Given the description of an element on the screen output the (x, y) to click on. 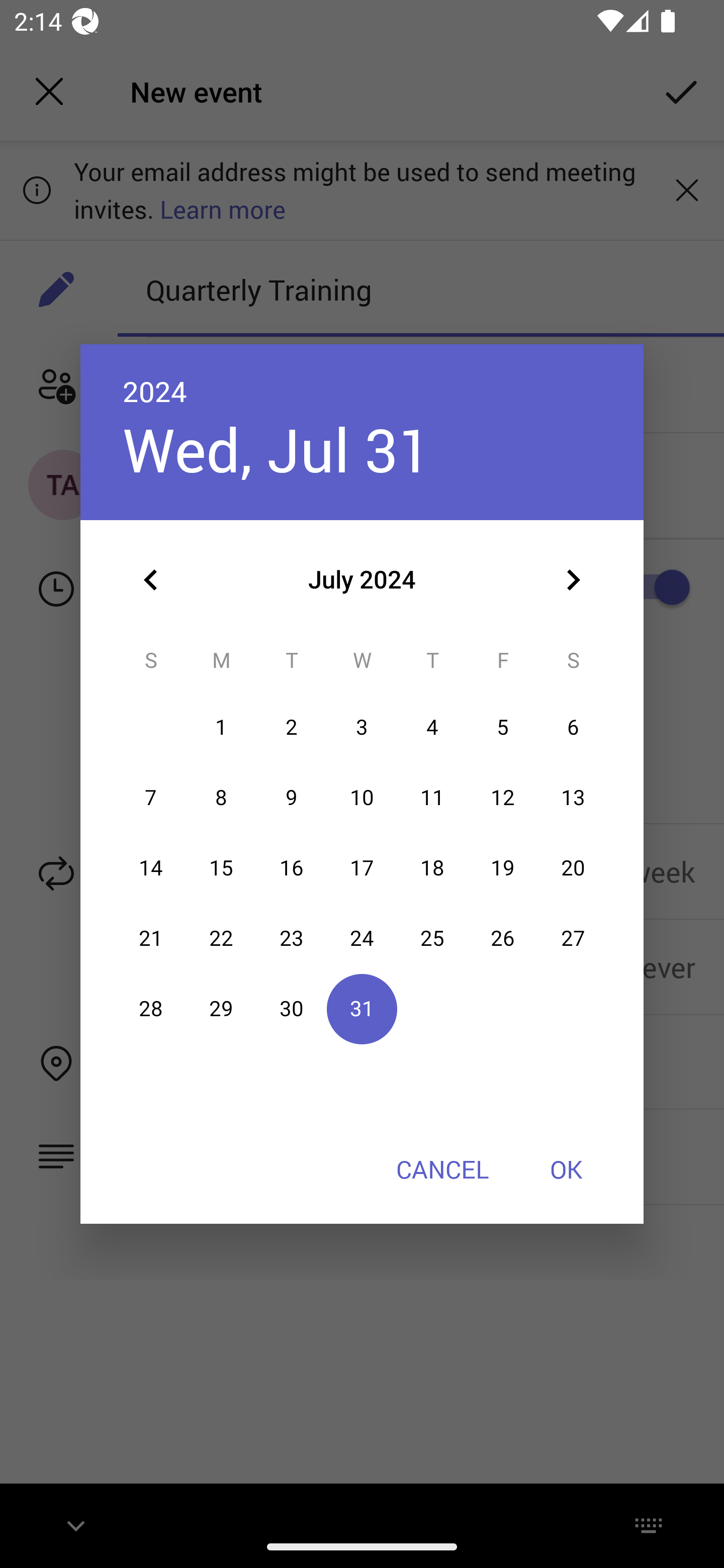
2024 (154, 391)
Wed, Jul 31 (277, 449)
Previous month (150, 579)
Next month (572, 579)
1 01 July 2024 (221, 728)
2 02 July 2024 (291, 728)
3 03 July 2024 (361, 728)
4 04 July 2024 (432, 728)
5 05 July 2024 (502, 728)
6 06 July 2024 (572, 728)
7 07 July 2024 (150, 797)
8 08 July 2024 (221, 797)
9 09 July 2024 (291, 797)
10 10 July 2024 (361, 797)
11 11 July 2024 (432, 797)
12 12 July 2024 (502, 797)
13 13 July 2024 (572, 797)
14 14 July 2024 (150, 867)
15 15 July 2024 (221, 867)
16 16 July 2024 (291, 867)
17 17 July 2024 (361, 867)
18 18 July 2024 (432, 867)
19 19 July 2024 (502, 867)
20 20 July 2024 (572, 867)
21 21 July 2024 (150, 938)
22 22 July 2024 (221, 938)
23 23 July 2024 (291, 938)
24 24 July 2024 (361, 938)
25 25 July 2024 (432, 938)
26 26 July 2024 (502, 938)
27 27 July 2024 (572, 938)
28 28 July 2024 (150, 1008)
29 29 July 2024 (221, 1008)
30 30 July 2024 (291, 1008)
31 31 July 2024 (361, 1008)
CANCEL (442, 1168)
OK (565, 1168)
